Given the description of an element on the screen output the (x, y) to click on. 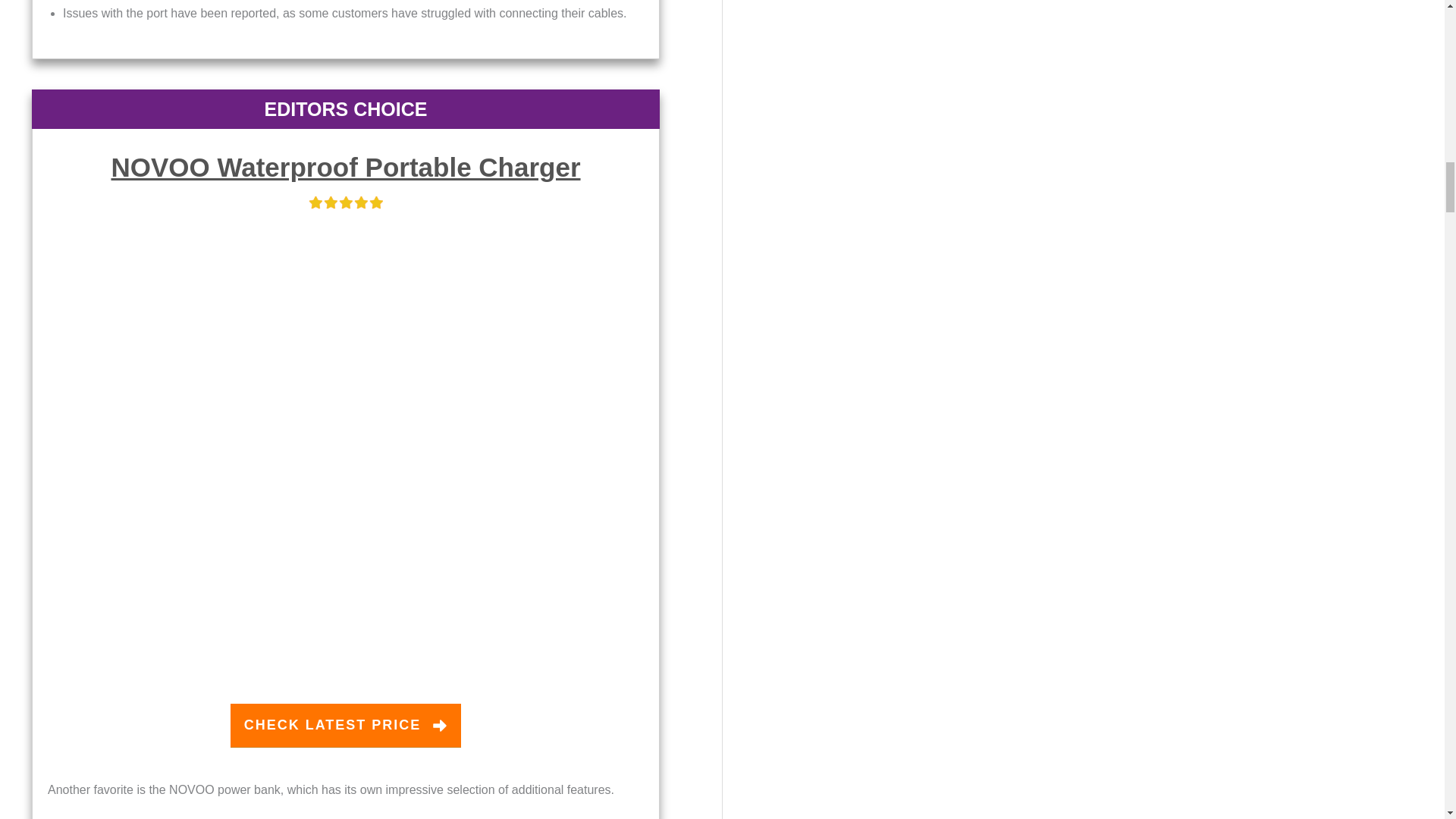
Nofollow link (344, 166)
NOVOO Waterproof Portable Charger (344, 166)
CHECK LATEST PRICE (345, 725)
